Given the description of an element on the screen output the (x, y) to click on. 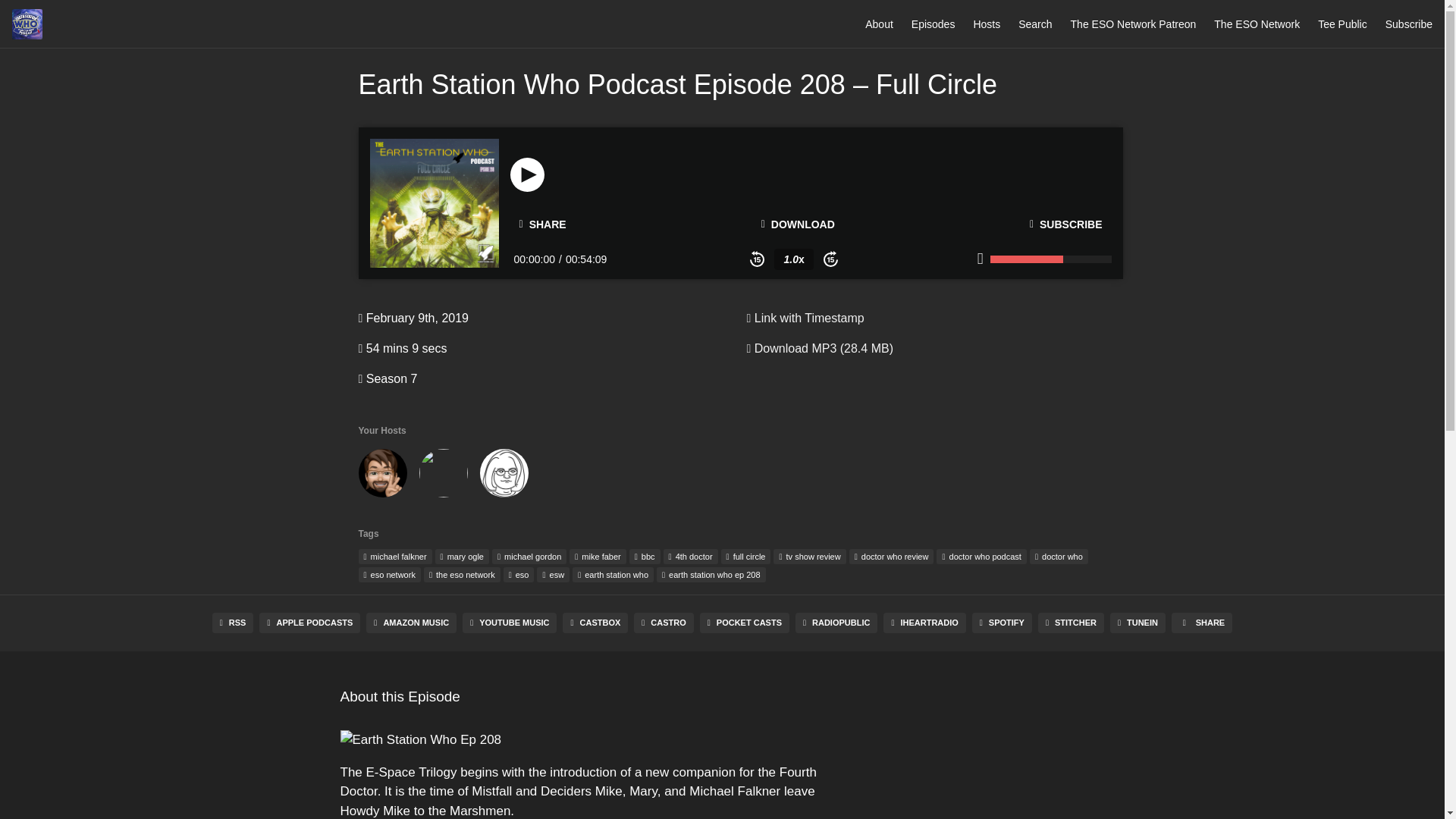
bbc (644, 556)
Hosts (986, 24)
tv show review (809, 556)
1.0x (793, 259)
The ESO Network (1257, 24)
DOWNLOAD (798, 224)
doctor who podcast (981, 556)
doctor who (1058, 556)
Michael Gordon (443, 475)
About (878, 24)
